Given the description of an element on the screen output the (x, y) to click on. 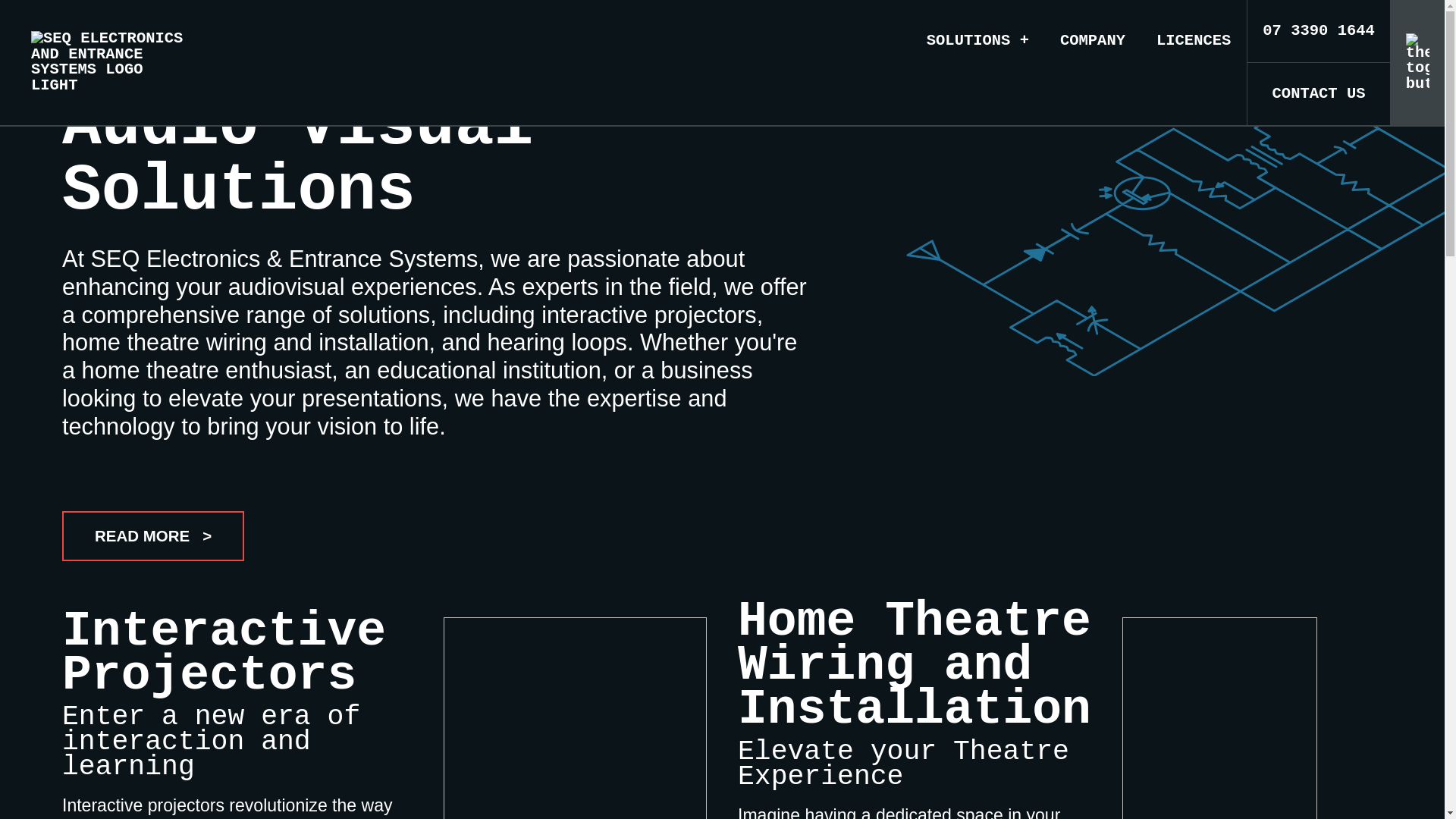
COMPANY Element type: text (1092, 62)
SOLUTIONS + Element type: text (977, 62)
CONTACT US Element type: text (1318, 93)
07 3390 1644 Element type: text (1318, 31)
Interactive Projectors Element type: text (223, 652)
Home Theatre Wiring and Installation Element type: text (914, 665)
READ MORE   > Element type: text (153, 536)
LICENCES Element type: text (1192, 62)
